Given the description of an element on the screen output the (x, y) to click on. 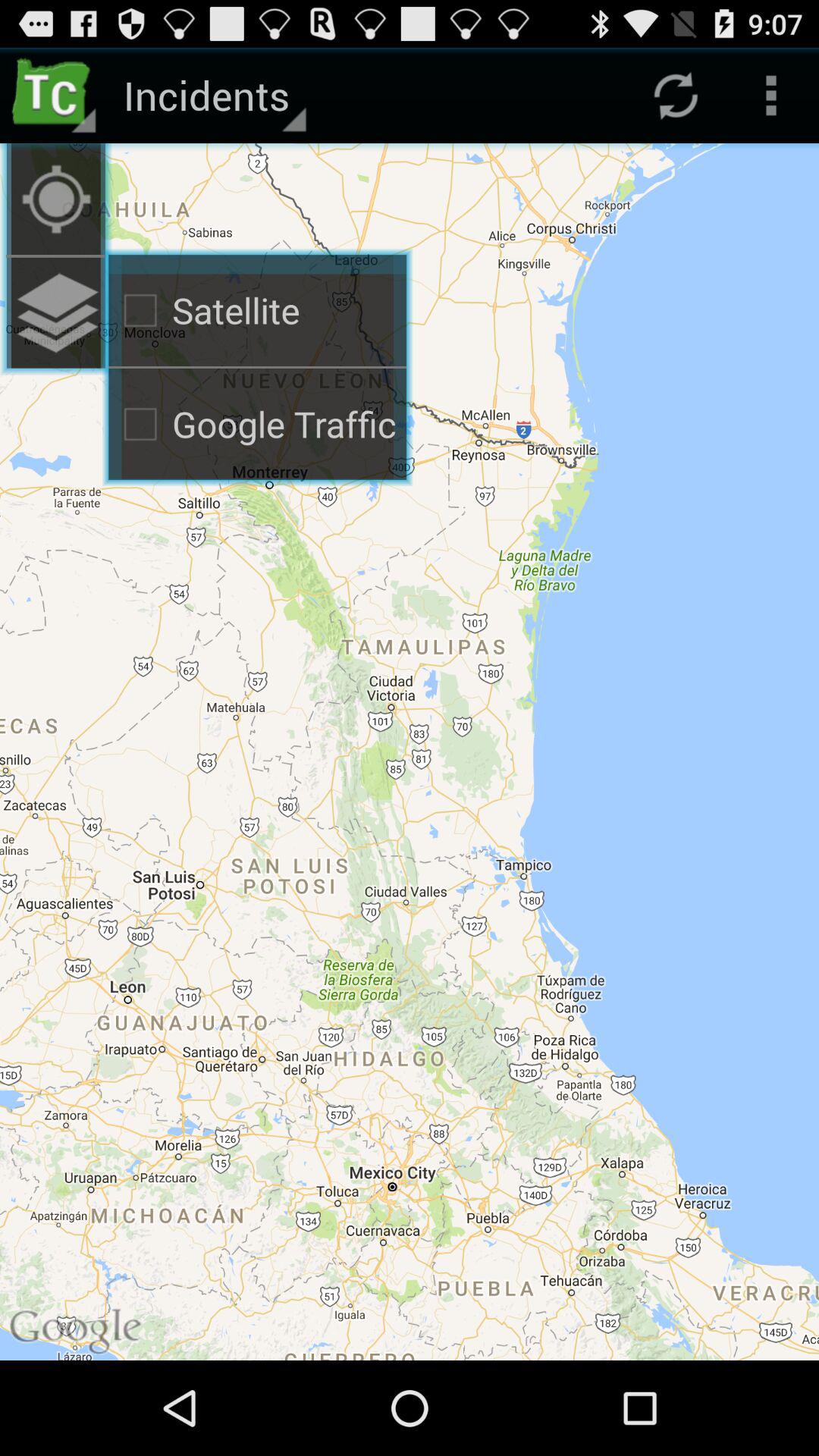
tap the satellite item (257, 310)
